Given the description of an element on the screen output the (x, y) to click on. 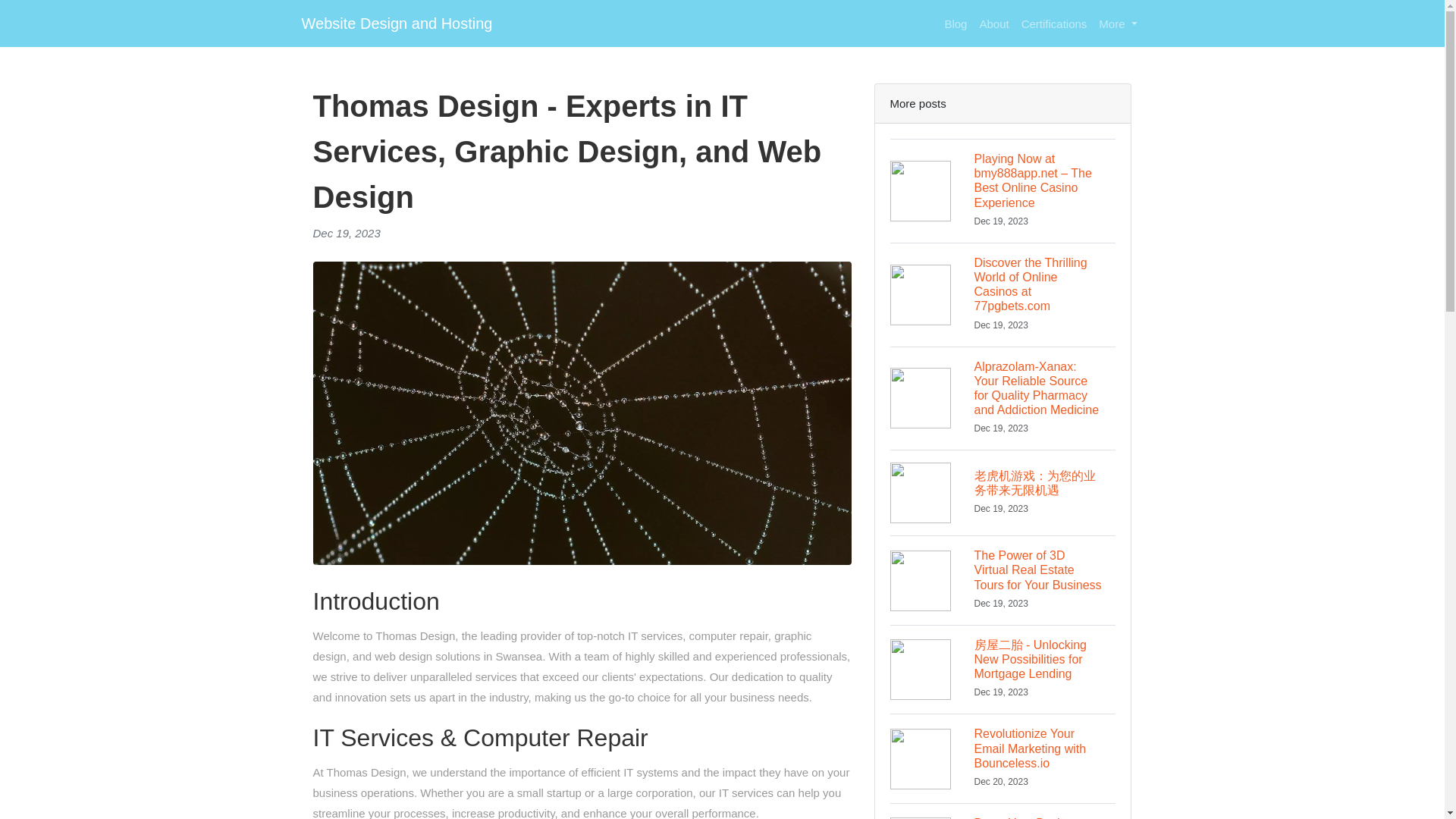
Certifications (1053, 23)
More (1117, 23)
About (993, 23)
Website Design and Hosting (397, 22)
Blog (954, 23)
